Given the description of an element on the screen output the (x, y) to click on. 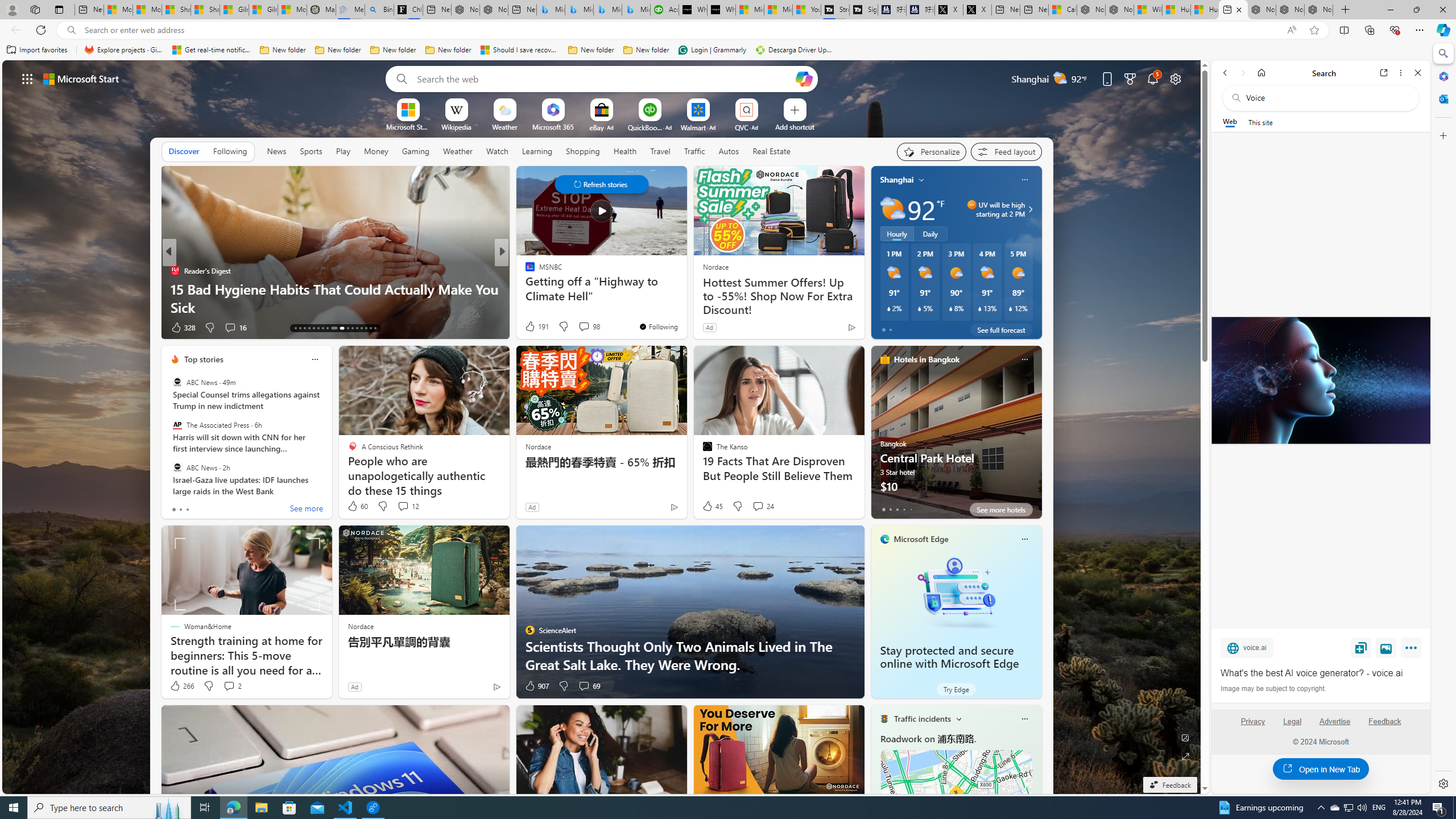
AutomationID: backgroundImagePicture (601, 426)
Microsoft Edge (921, 538)
Hourly (896, 233)
Hotels in Bangkok (926, 359)
907 Like (536, 685)
Real Estate (771, 151)
View comments 12 Comment (403, 505)
Nordace - #1 Japanese Best-Seller - Siena Smart Backpack (493, 9)
Gaming (415, 151)
AutomationID: tab-25 (356, 328)
Traffic (694, 151)
